Given the description of an element on the screen output the (x, y) to click on. 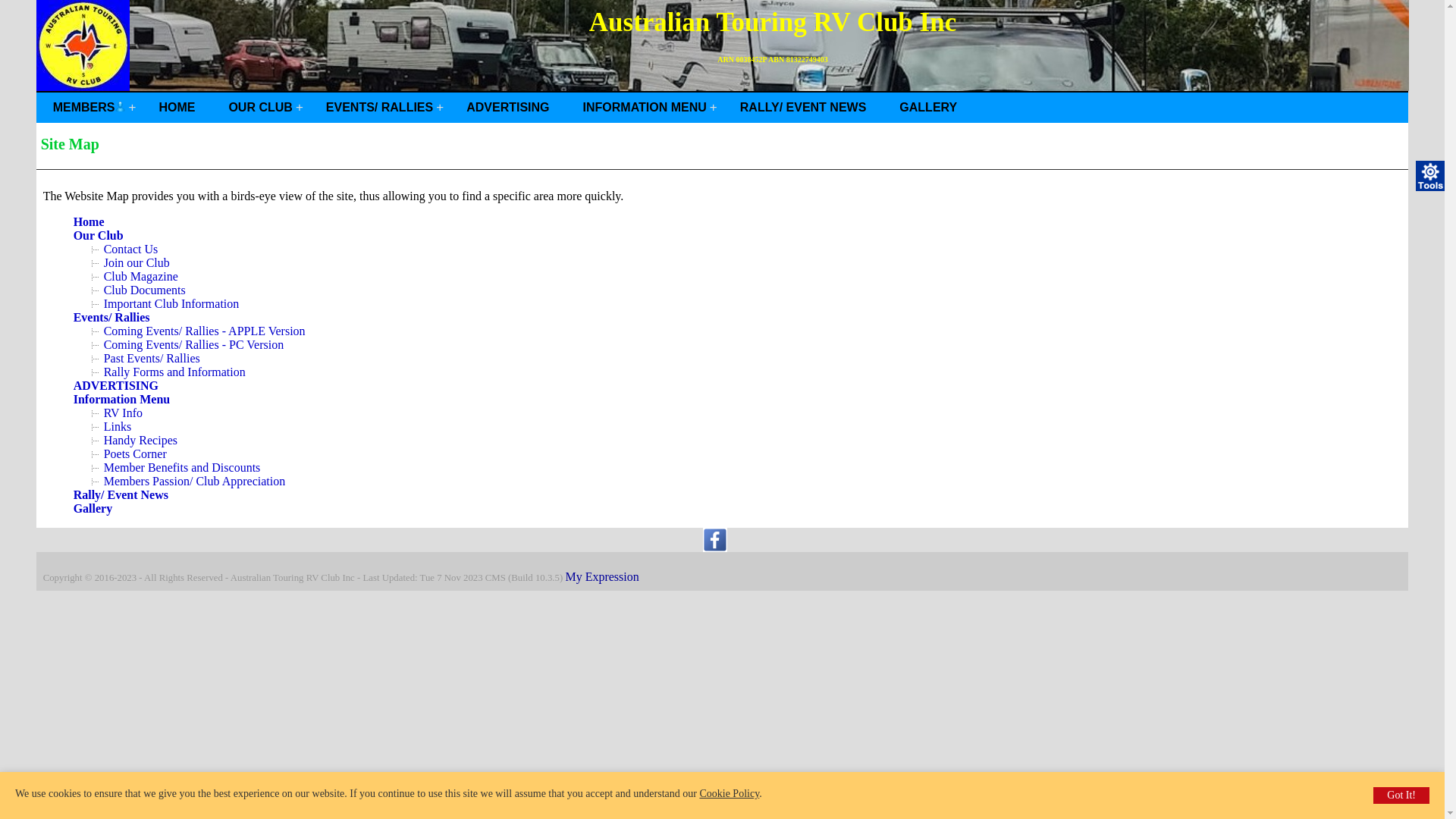
Home Element type: text (88, 221)
Poets Corner Element type: text (134, 453)
Important Club Information Element type: text (171, 303)
My Expression Element type: text (601, 576)
Club Magazine Element type: text (140, 275)
Events/ Rallies Element type: text (111, 316)
EVENTS/ RALLIES Element type: text (379, 107)
OUR CLUB Element type: text (259, 107)
Cookie Policy Element type: text (729, 793)
Tools Element type: text (1430, 175)
Contact Us Element type: text (130, 248)
Australian Touring RV Club Inc
ARN 0038452P ABN 81322749403 Element type: text (722, 46)
RV Info Element type: text (122, 412)
Member Benefits and Discounts Element type: text (181, 467)
Information Menu Element type: text (121, 398)
Facebook Element type: hover (714, 547)
Gallery Element type: text (92, 508)
Logo Element type: hover (82, 45)
Our Club Element type: text (98, 235)
Club Documents Element type: text (144, 289)
Rally Forms and Information Element type: text (174, 371)
MEMBERS Element type: text (89, 107)
Links Element type: text (117, 426)
Login Element type: hover (119, 105)
Members Passion/ Club Appreciation Element type: text (194, 480)
Join our Club Element type: text (136, 262)
Handy Recipes Element type: text (140, 439)
HOME Element type: text (176, 107)
Past Events/ Rallies Element type: text (151, 357)
Coming Events/ Rallies - APPLE Version Element type: text (204, 330)
Coming Events/ Rallies - PC Version Element type: text (193, 344)
Rally/ Event News Element type: text (120, 494)
ADVERTISING Element type: text (115, 385)
INFORMATION MENU Element type: text (644, 107)
ADVERTISING Element type: text (507, 107)
RALLY/ EVENT NEWS Element type: text (803, 107)
GALLERY Element type: text (927, 107)
